Given the description of an element on the screen output the (x, y) to click on. 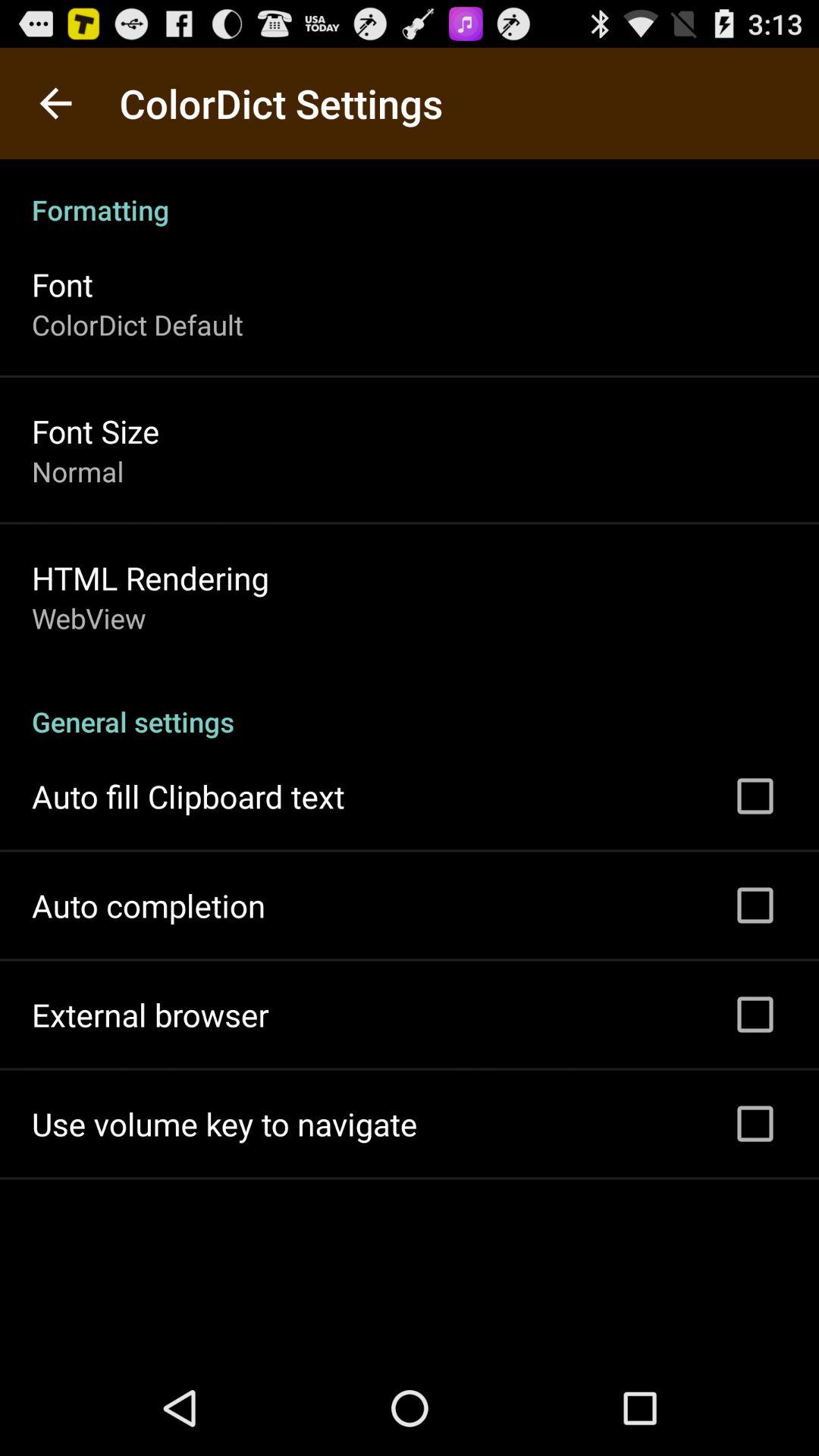
launch icon to the left of the colordict settings (55, 103)
